Given the description of an element on the screen output the (x, y) to click on. 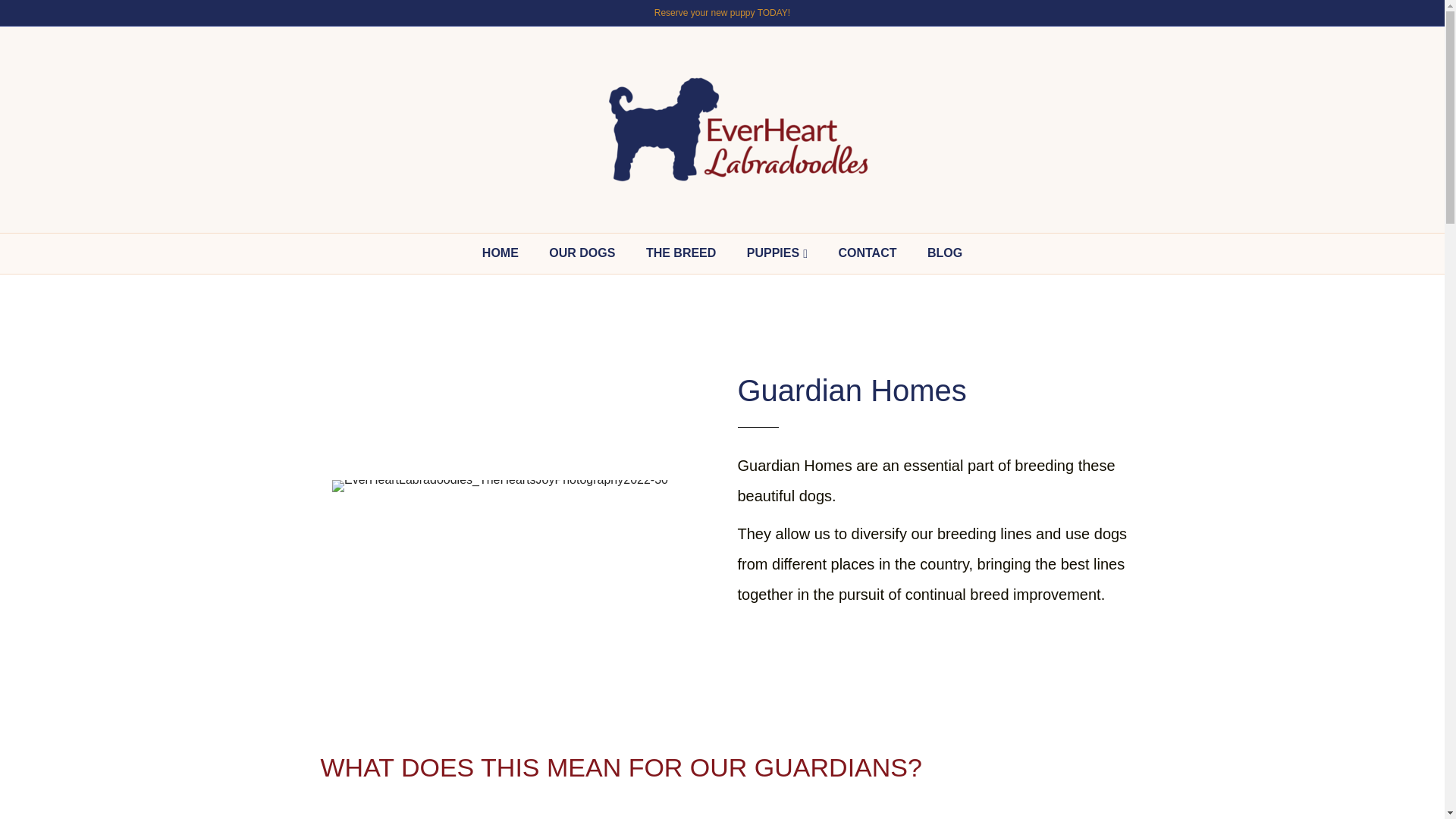
BLOG (944, 252)
CONTACT (867, 252)
Reserve your new puppy TODAY! (721, 12)
HOME (500, 252)
THE BREED (680, 252)
OUR DOGS (581, 252)
PUPPIES (777, 253)
